Given the description of an element on the screen output the (x, y) to click on. 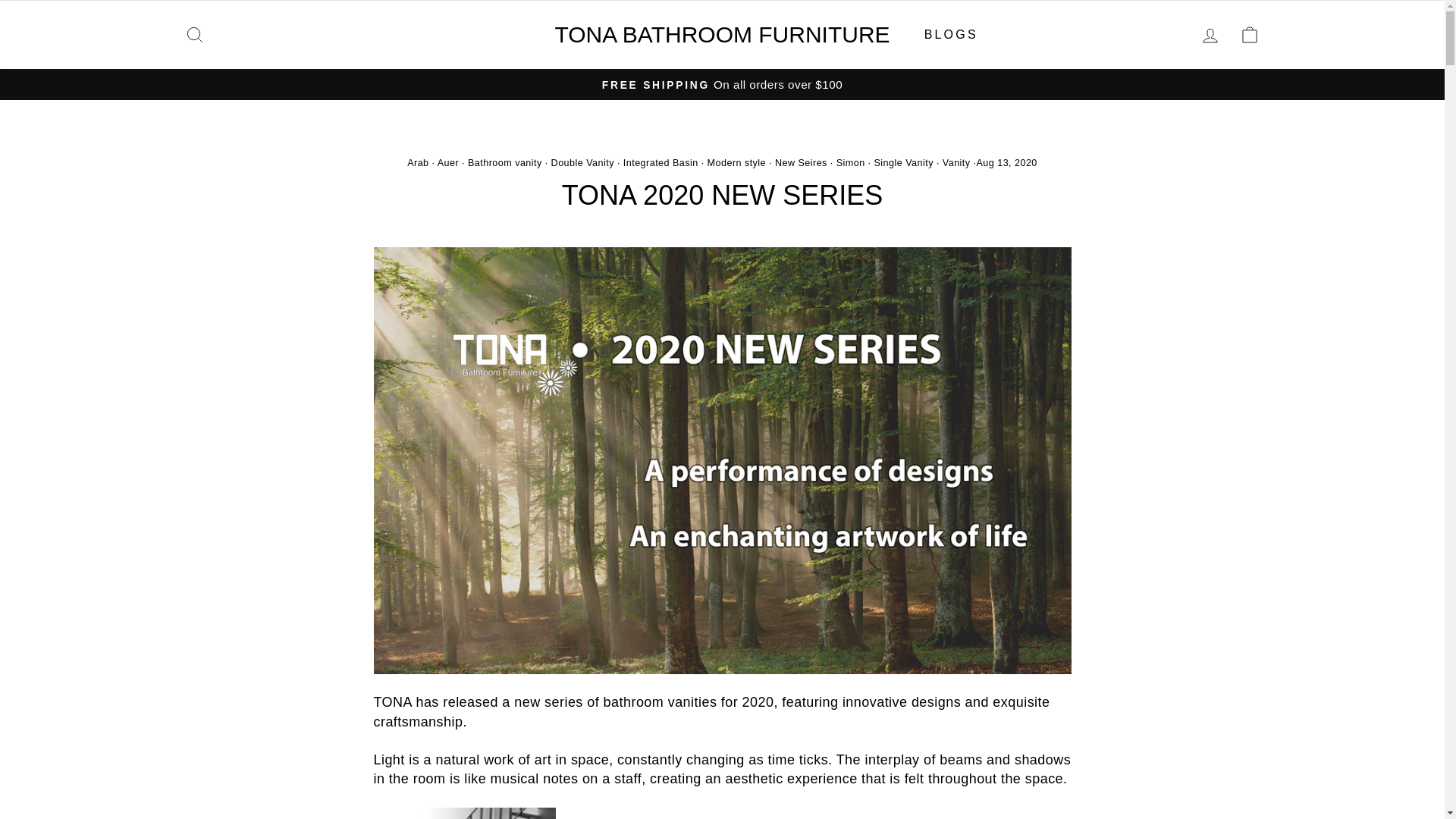
Vanity (956, 163)
Modern style (737, 163)
Double Vanity (582, 163)
ICON-BAG-MINIMAL (1249, 34)
New Seires (194, 34)
Integrated Basin (800, 163)
ICON-SEARCH (660, 163)
Simon (194, 34)
